Given the description of an element on the screen output the (x, y) to click on. 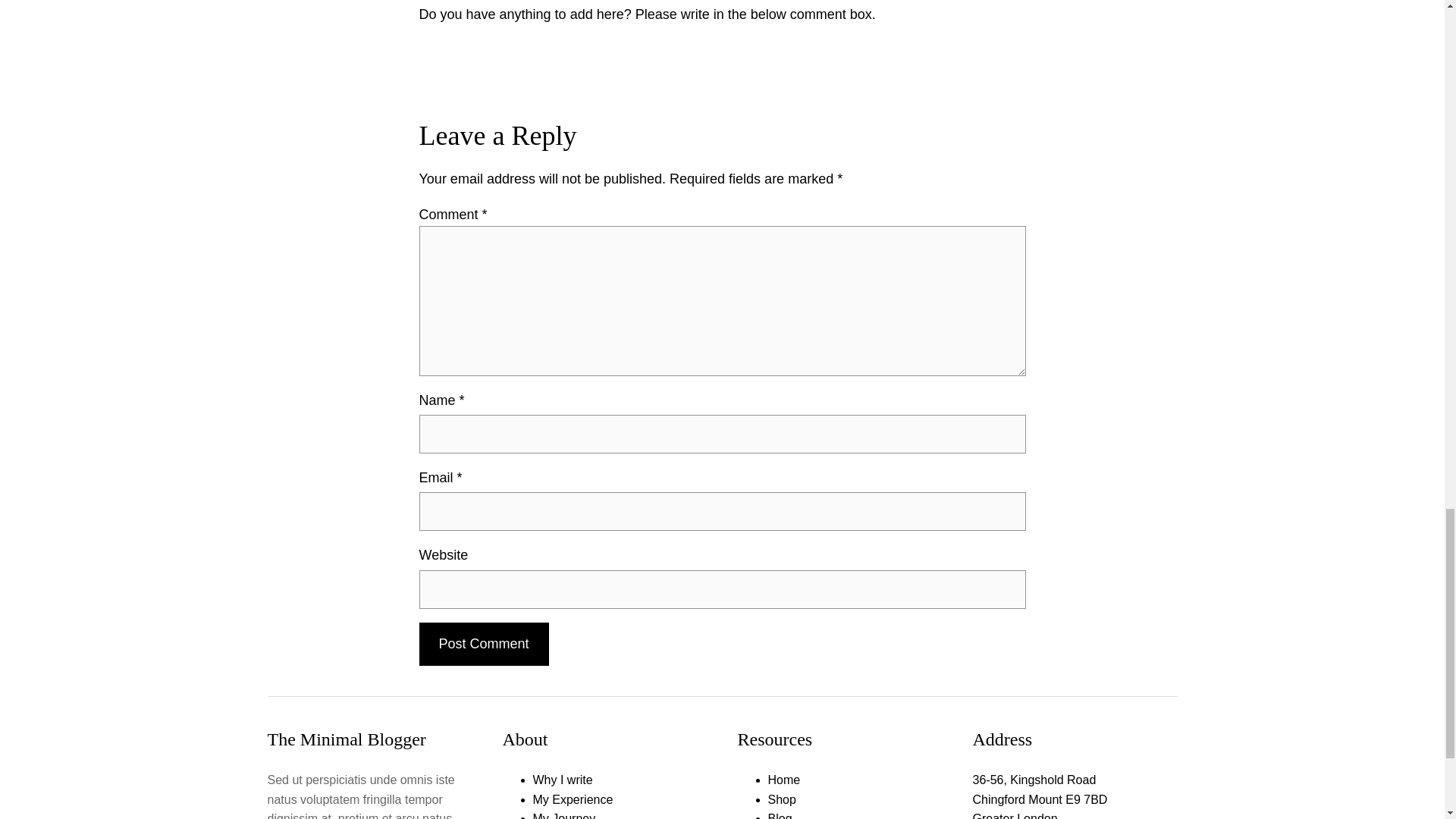
My Experience (572, 799)
Post Comment (483, 643)
My Journey (563, 815)
Shop (780, 799)
Blog (779, 815)
Post Comment (483, 643)
Home (783, 779)
Why I write (562, 779)
